Given the description of an element on the screen output the (x, y) to click on. 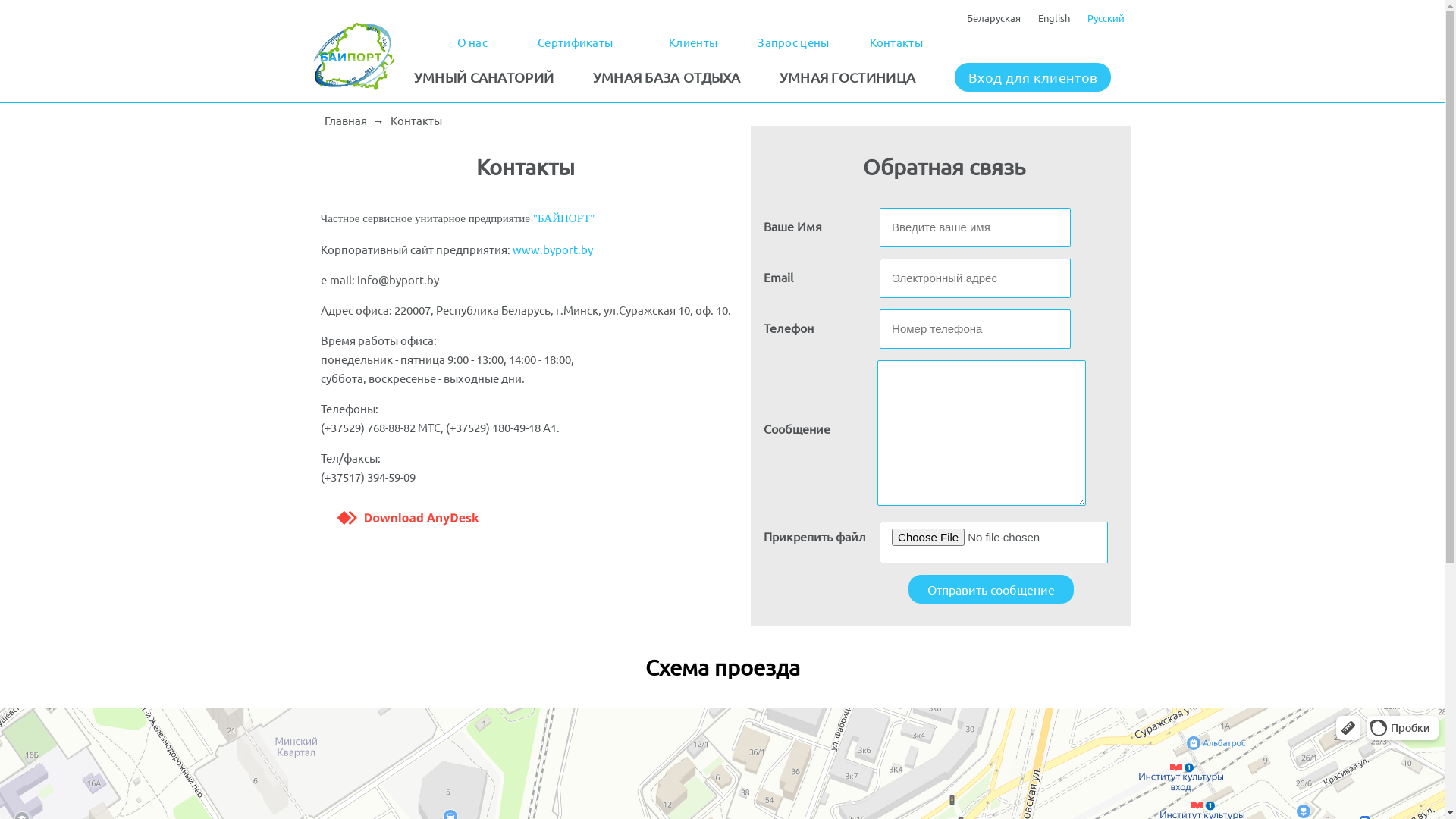
English Element type: text (1052, 17)
www.byport.by Element type: text (552, 248)
